Given the description of an element on the screen output the (x, y) to click on. 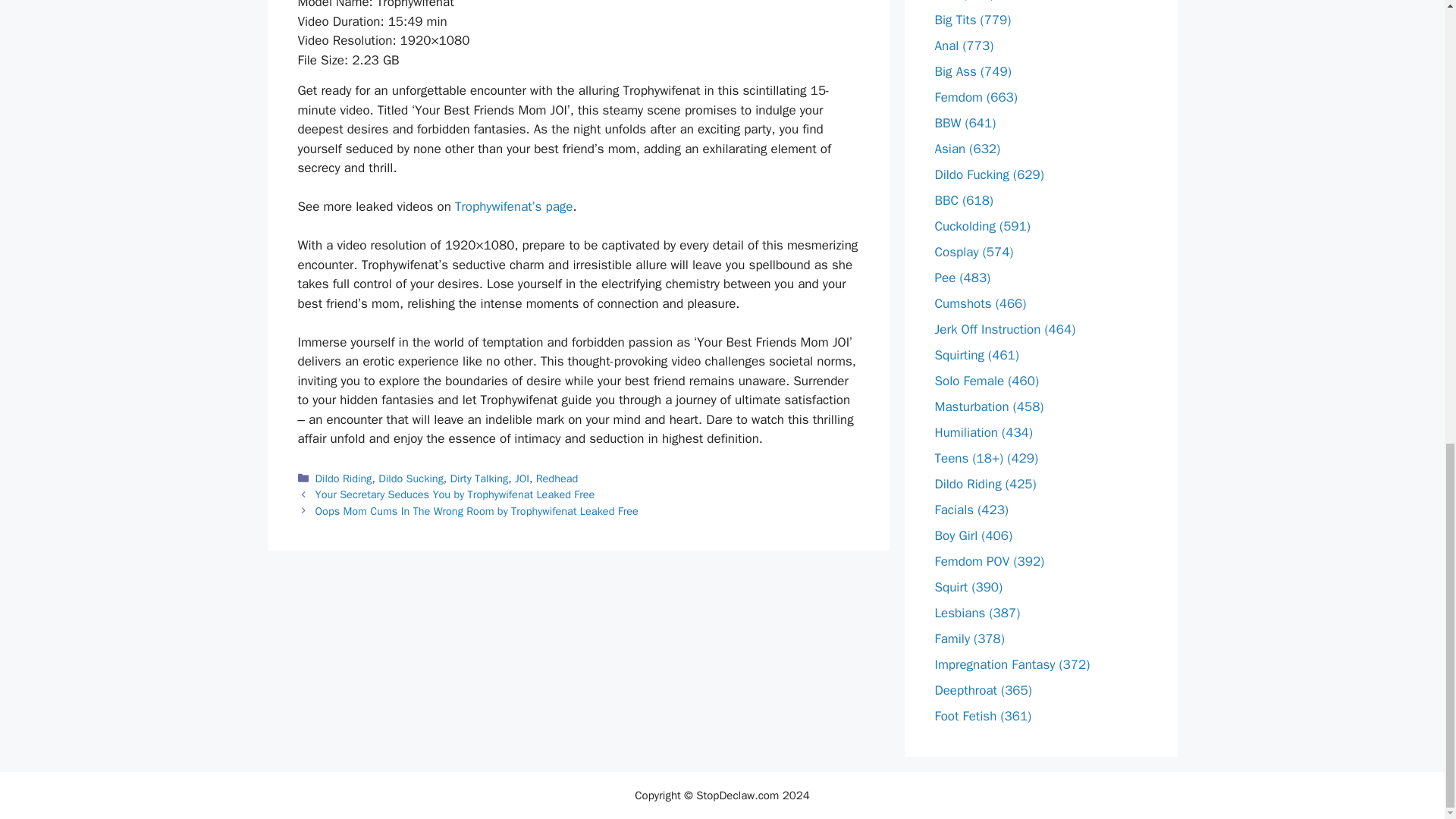
Dirty Talking (478, 478)
Oops Mom Cums In The Wrong Room by Trophywifenat Leaked Free (477, 510)
Dildo Sucking (411, 478)
JOI (522, 478)
Dildo Riding (343, 478)
Your Secretary Seduces You by Trophywifenat Leaked Free (455, 494)
Redhead (556, 478)
